Given the description of an element on the screen output the (x, y) to click on. 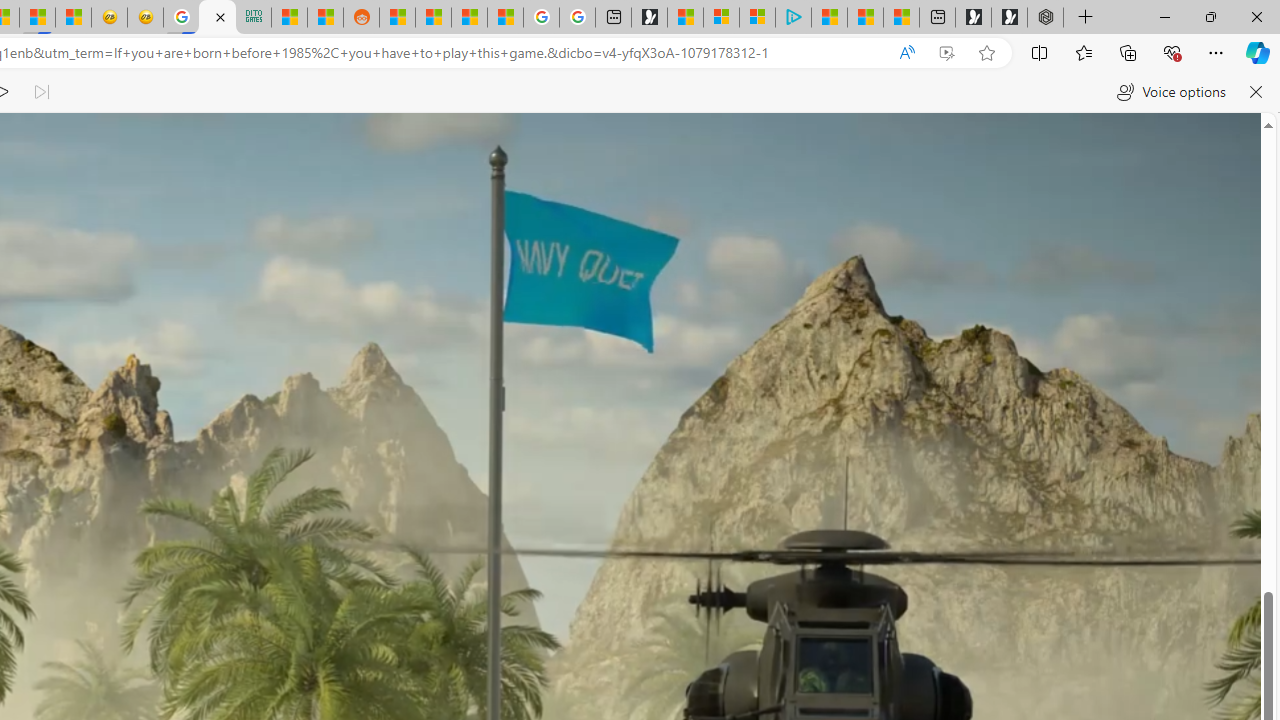
These 3 Stocks Pay You More Than 5% to Own Them (901, 17)
